Given the description of an element on the screen output the (x, y) to click on. 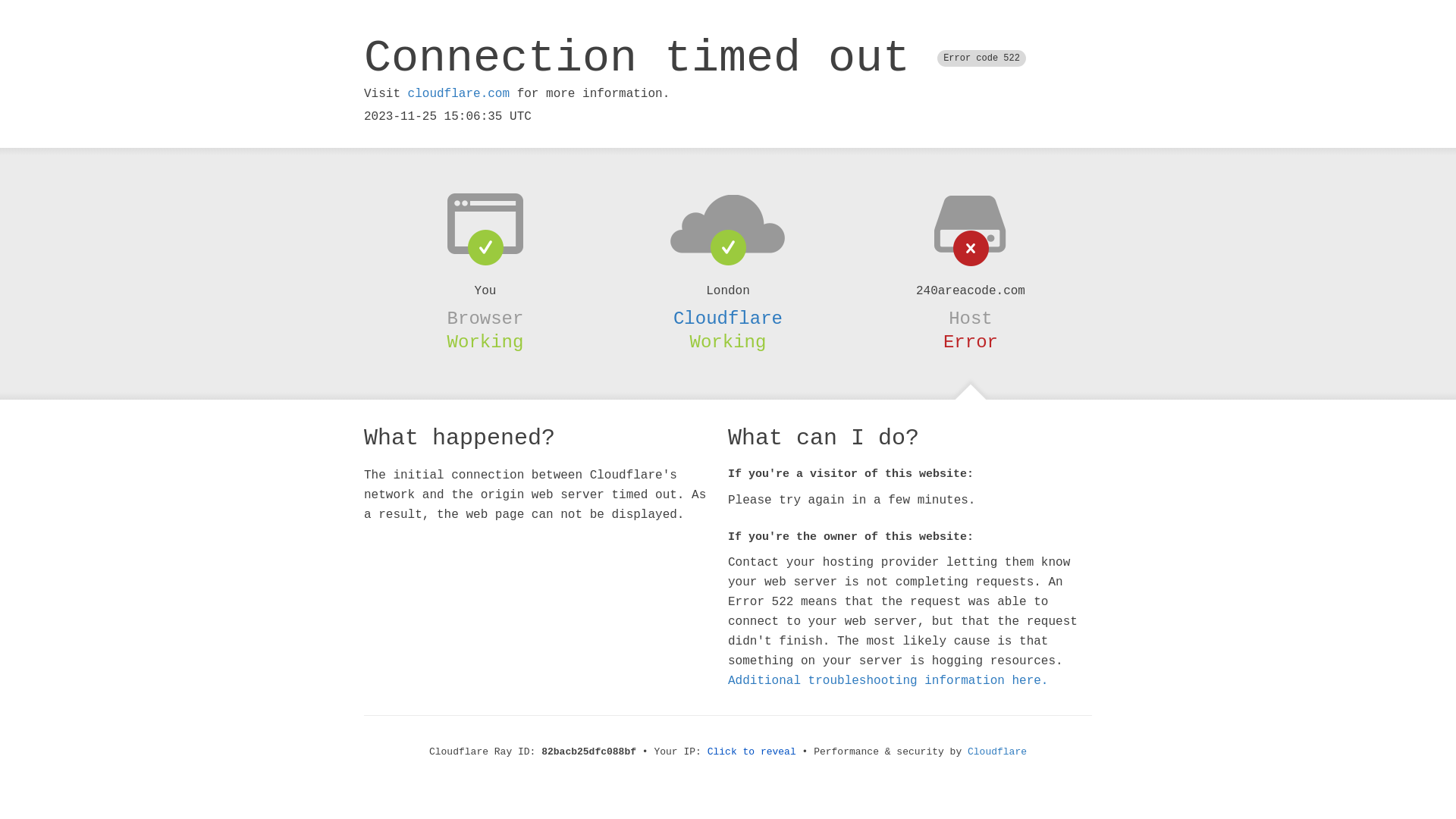
Click to reveal Element type: text (751, 751)
Additional troubleshooting information here. Element type: text (888, 680)
cloudflare.com Element type: text (458, 93)
Cloudflare Element type: text (727, 318)
Cloudflare Element type: text (996, 751)
